Given the description of an element on the screen output the (x, y) to click on. 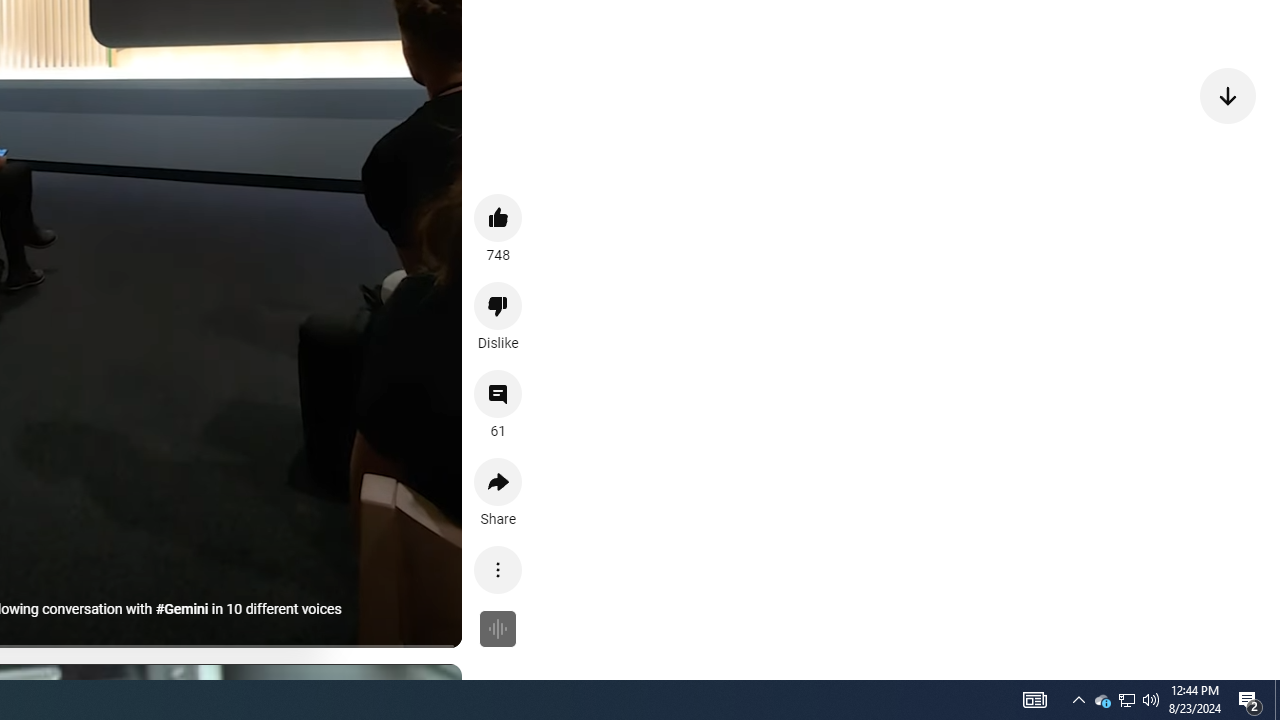
Share (498, 481)
Next video (1227, 94)
View 61 comments (498, 394)
Dislike this video (498, 305)
More actions (498, 569)
Feature not available for this video (498, 628)
like this video along with 748 other people (498, 217)
#Gemini (181, 609)
